Given the description of an element on the screen output the (x, y) to click on. 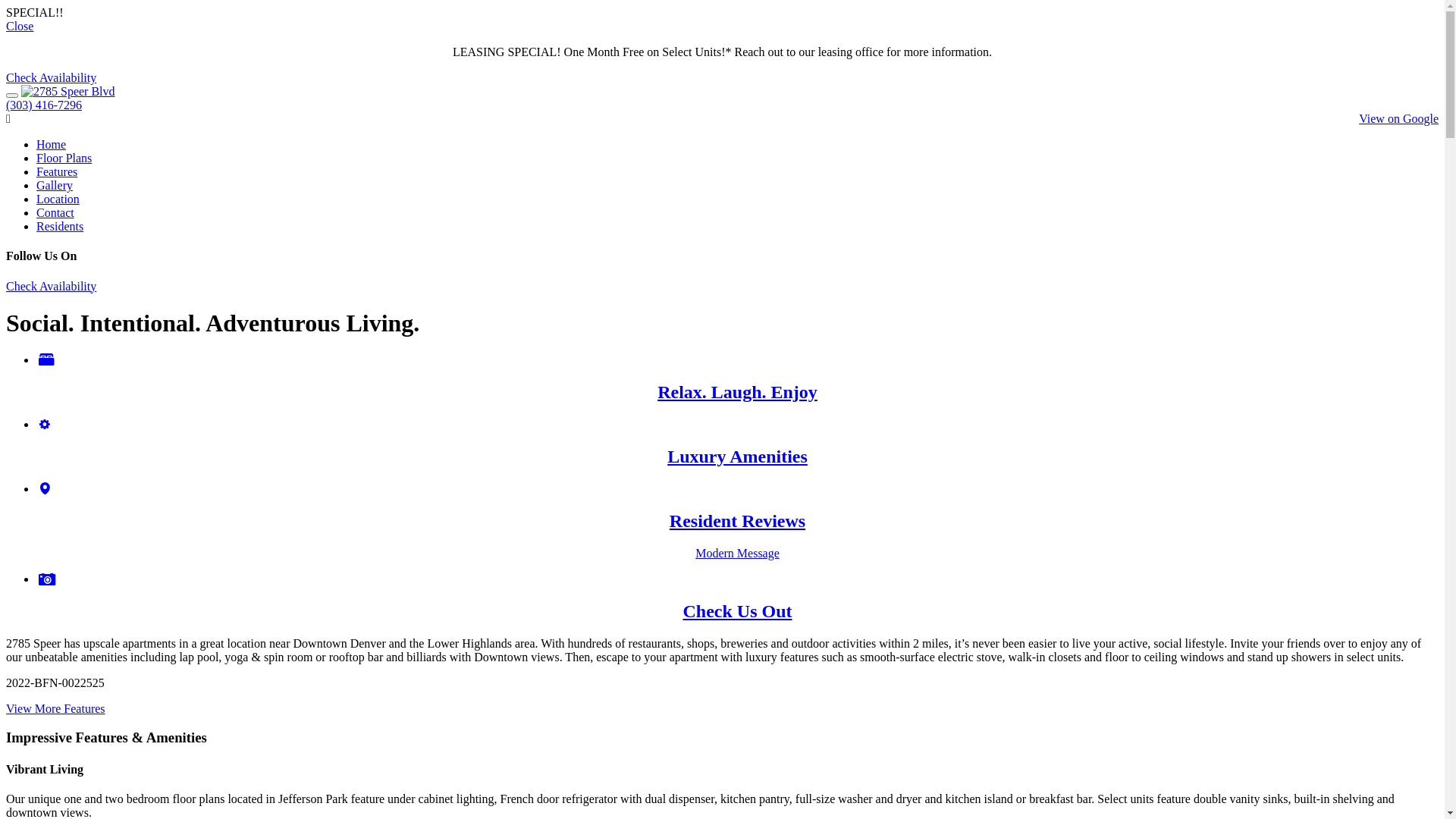
View More Features Element type: text (55, 708)
View on Google Element type: text (1398, 118)
Gallery Element type: text (54, 184)
Check Us Out Element type: text (737, 596)
Floor Plans Element type: text (63, 157)
(303) 416-7296 Element type: text (43, 104)
Check Availability Element type: text (51, 77)
Contact Element type: text (55, 212)
Check Availability Element type: text (51, 285)
Location Element type: text (57, 198)
Relax. Laugh. Enjoy Element type: text (737, 377)
Toggle navigation Element type: text (12, 95)
Resident Reviews
Modern Message Element type: text (737, 521)
Close Element type: text (19, 25)
2785 Speer Blvd Element type: hover (68, 91)
Features Element type: text (56, 171)
Residents Element type: text (59, 225)
Luxury Amenities Element type: text (737, 442)
Home Element type: text (50, 144)
